Given the description of an element on the screen output the (x, y) to click on. 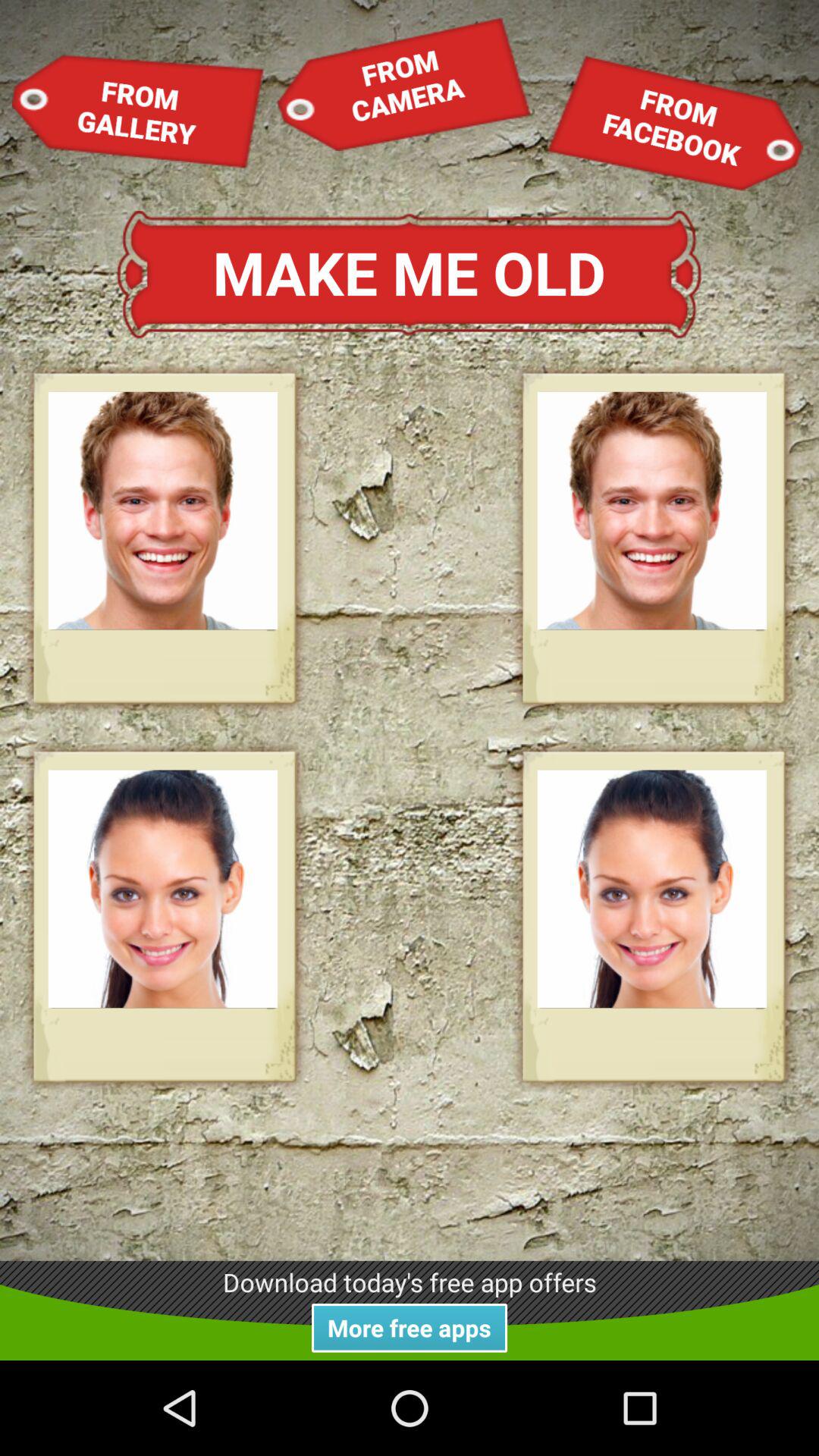
launch icon to the left of the from
camera (137, 110)
